Given the description of an element on the screen output the (x, y) to click on. 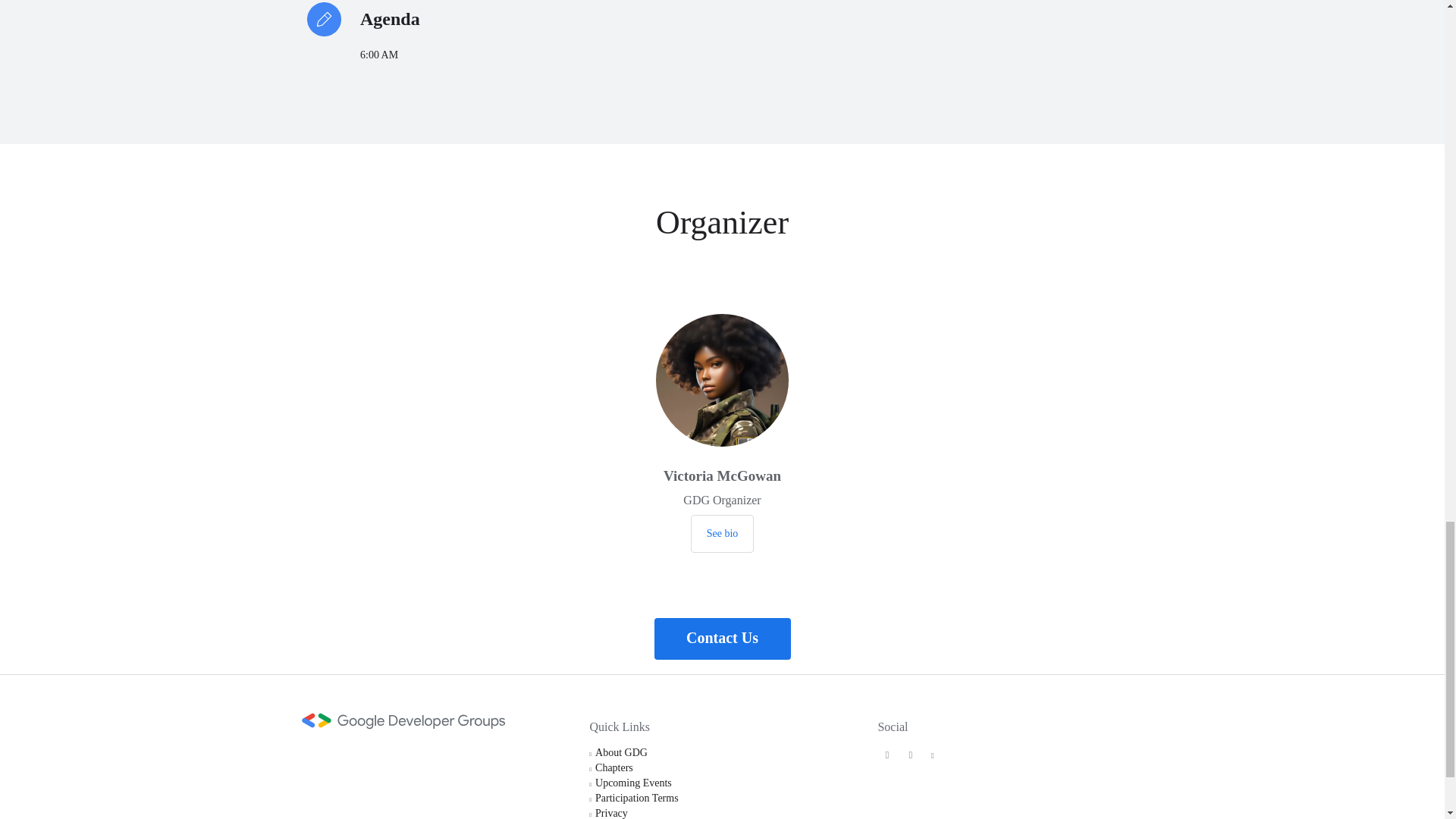
Chapters (614, 767)
About GDG (621, 752)
Upcoming Events (633, 782)
YouTube (933, 754)
LinkedIn (910, 754)
See bio (722, 533)
X (886, 754)
Participation Terms (636, 797)
Privacy (611, 813)
